Given the description of an element on the screen output the (x, y) to click on. 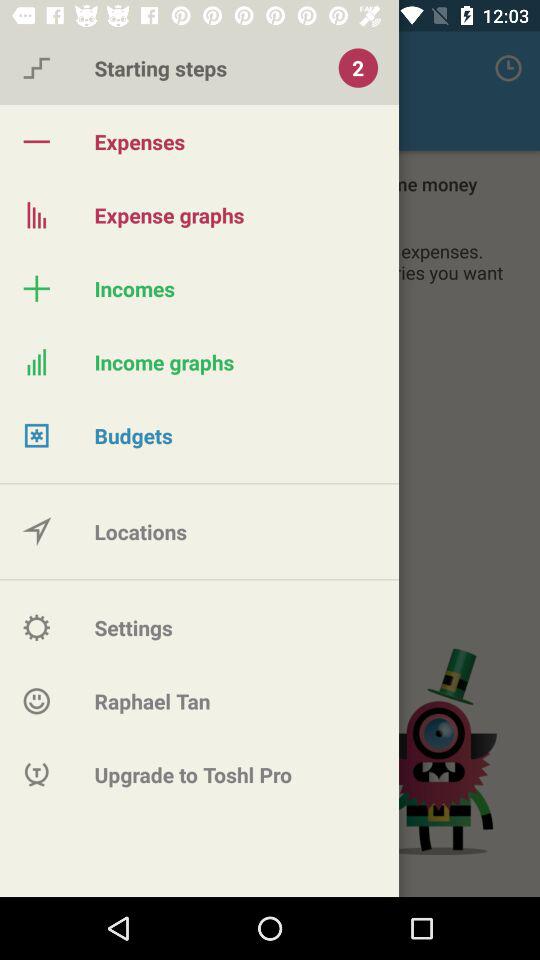
click on the emoji beside raphael tan (36, 701)
click on the clock icon on the top right corner of the page (508, 68)
icon left to the text expenses (36, 141)
